Given the description of an element on the screen output the (x, y) to click on. 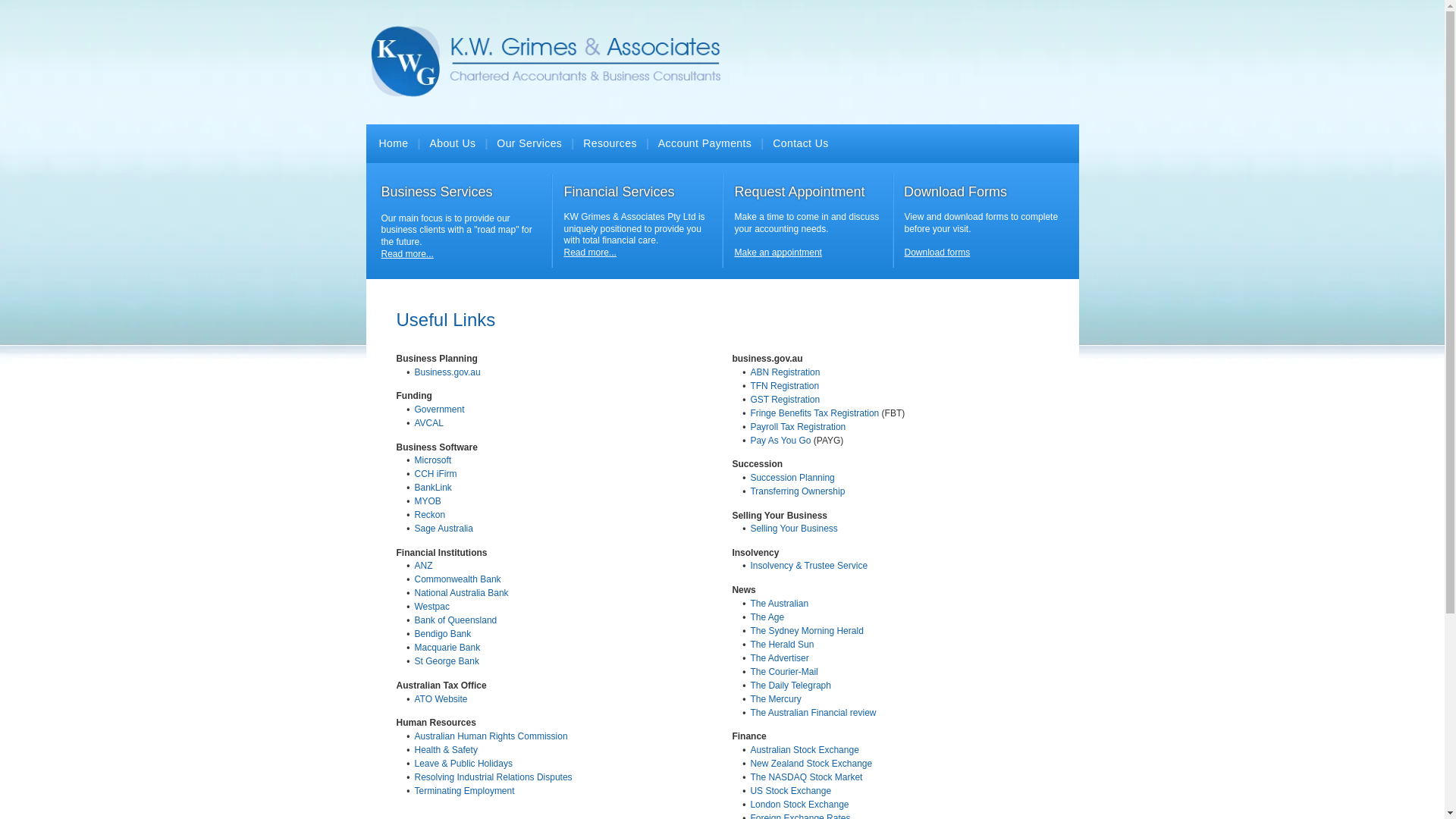
Home Element type: text (393, 143)
Sage Australia Element type: text (443, 528)
TFN Registration Element type: text (784, 385)
Payroll Tax Registration Element type: text (797, 426)
Download forms Element type: text (936, 252)
Microsoft Element type: text (432, 460)
Business.gov.au Element type: text (447, 372)
The Australian Element type: text (778, 603)
Health & Safety Element type: text (445, 749)
National Australia Bank Element type: text (461, 592)
The Herald Sun Element type: text (781, 644)
AVCAL Element type: text (428, 422)
Read more... Element type: text (406, 253)
The Mercury Element type: text (774, 698)
Australian Stock Exchange Element type: text (803, 749)
The Advertiser Element type: text (778, 657)
Australian Human Rights Commission Element type: text (490, 736)
Reckon Element type: text (429, 514)
Government Element type: text (439, 409)
Fringe Benefits Tax Registration Element type: text (813, 412)
Bank of Queensland Element type: text (455, 620)
Our Services Element type: text (529, 143)
Terminating Employment Element type: text (464, 790)
About Us Element type: text (452, 143)
MYOB Element type: text (427, 500)
Selling Your Business Element type: text (793, 528)
Succession Planning Element type: text (791, 477)
Bendigo Bank Element type: text (442, 633)
Resolving Industrial Relations Disputes Element type: text (492, 776)
Westpac Element type: text (431, 606)
Read more... Element type: text (590, 252)
London Stock Exchange Element type: text (798, 804)
Make an appointment Element type: text (777, 252)
The Age Element type: text (766, 616)
Transferring Ownership Element type: text (796, 491)
BankLink Element type: text (432, 487)
ABN Registration Element type: text (784, 372)
Resources Element type: text (610, 143)
Leave & Public Holidays Element type: text (462, 763)
Contact Us Element type: text (800, 143)
Account Payments Element type: text (704, 143)
The NASDAQ Stock Market Element type: text (805, 776)
Insolvency & Trustee Service Element type: text (808, 565)
CCH iFirm Element type: text (435, 473)
Commonwealth Bank Element type: text (457, 579)
New Zealand Stock Exchange Element type: text (810, 763)
Macquarie Bank Element type: text (447, 647)
The Australian Financial review Element type: text (812, 712)
US Stock Exchange Element type: text (790, 790)
Pay As You Go Element type: text (779, 440)
The Sydney Morning Herald Element type: text (805, 630)
ATO Website Element type: text (440, 698)
The Courier-Mail Element type: text (783, 671)
St George Bank Element type: text (446, 660)
GST Registration Element type: text (784, 399)
The Daily Telegraph Element type: text (790, 685)
ANZ Element type: text (423, 565)
